Given the description of an element on the screen output the (x, y) to click on. 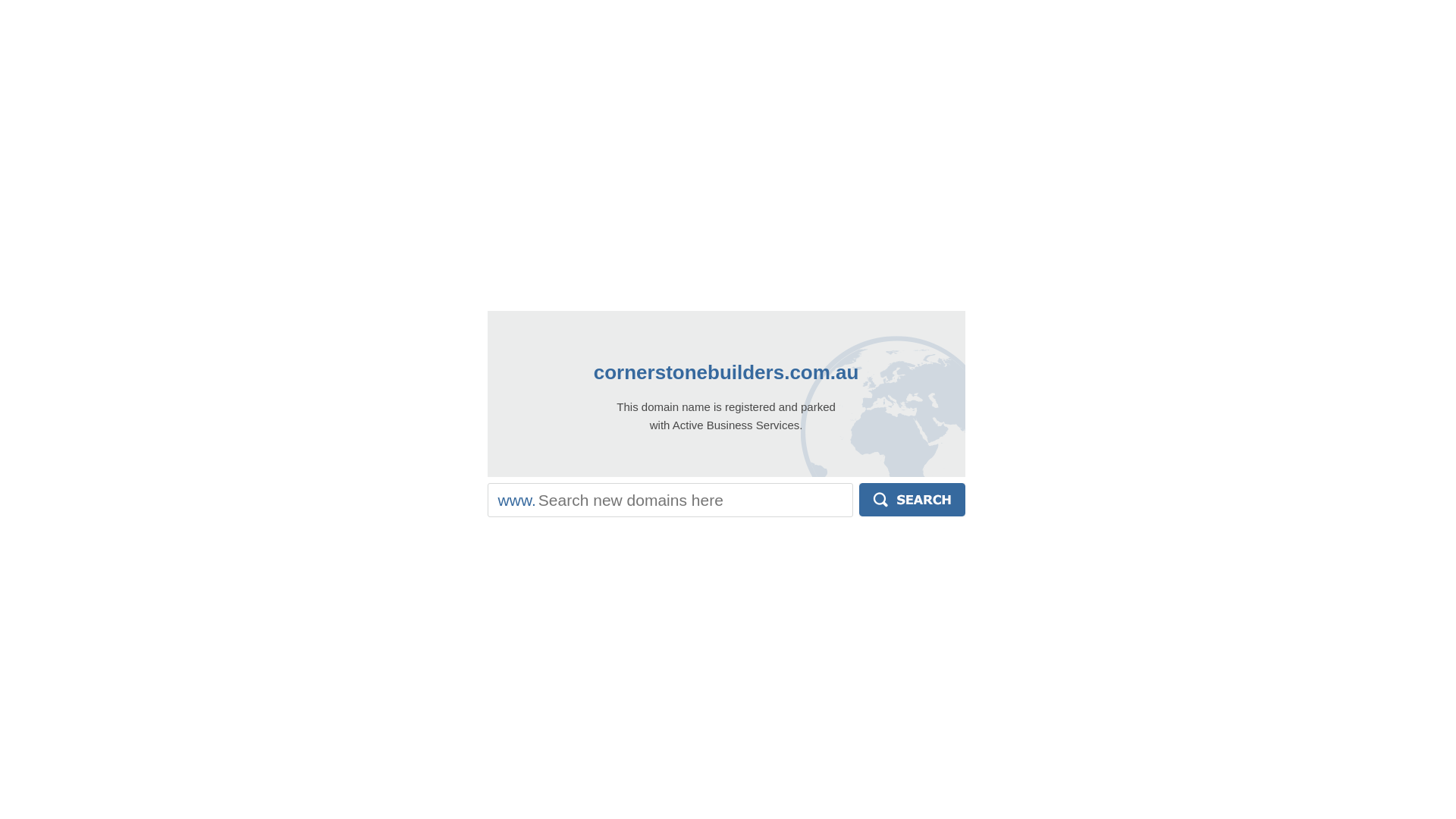
Search Element type: text (912, 499)
